Given the description of an element on the screen output the (x, y) to click on. 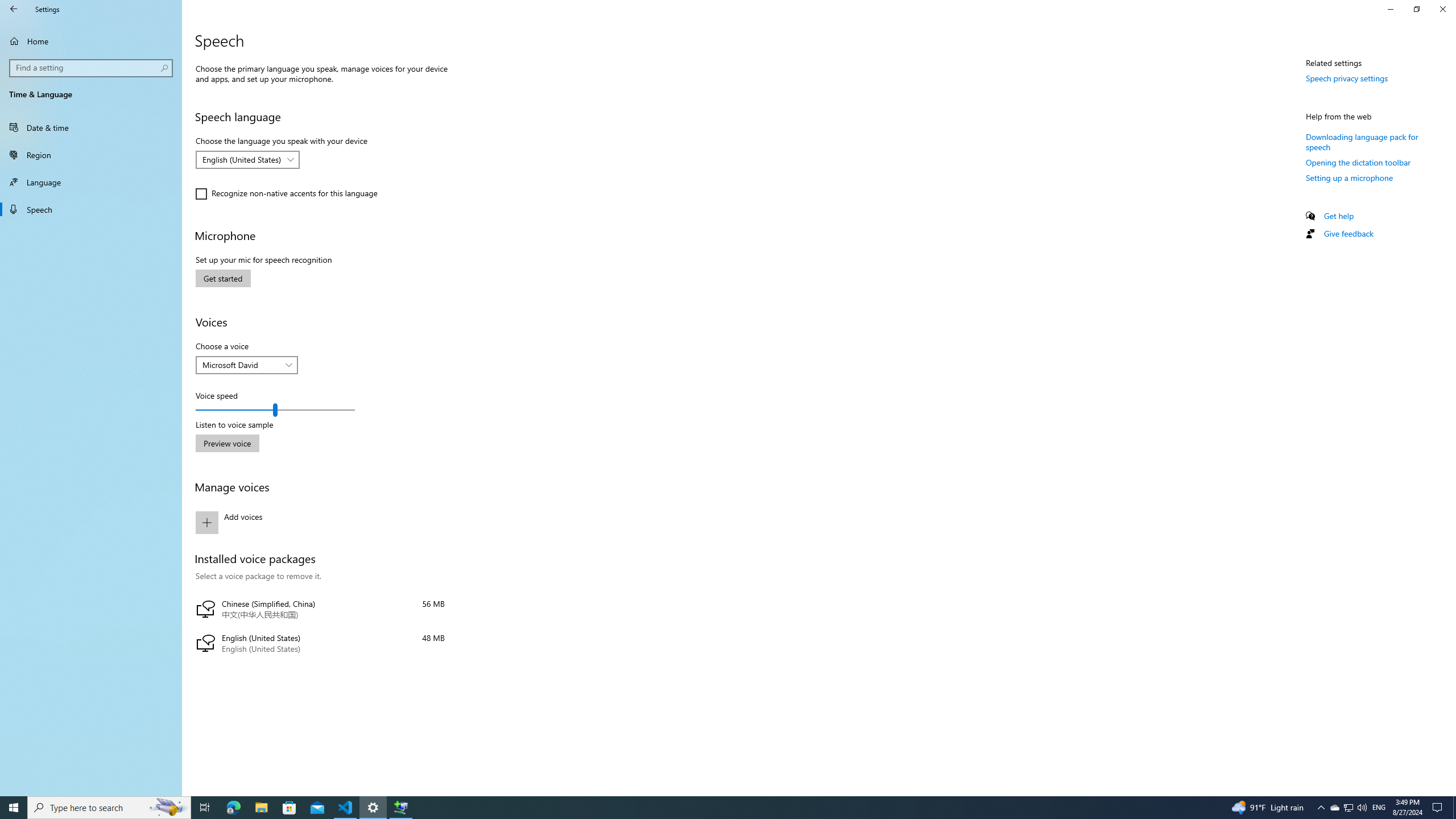
Microsoft David (240, 364)
Visual Studio Code - 1 running window (345, 807)
Show desktop (1454, 807)
Home (91, 40)
Close Settings (1442, 9)
Back (13, 9)
Date & time (91, 126)
Extensible Wizards Host Process - 1 running window (400, 807)
Q2790: 100% (1361, 807)
Restore Settings (1347, 807)
Preview voice (1416, 9)
Recognize non-native accents for this language (227, 443)
Running applications (286, 194)
